Given the description of an element on the screen output the (x, y) to click on. 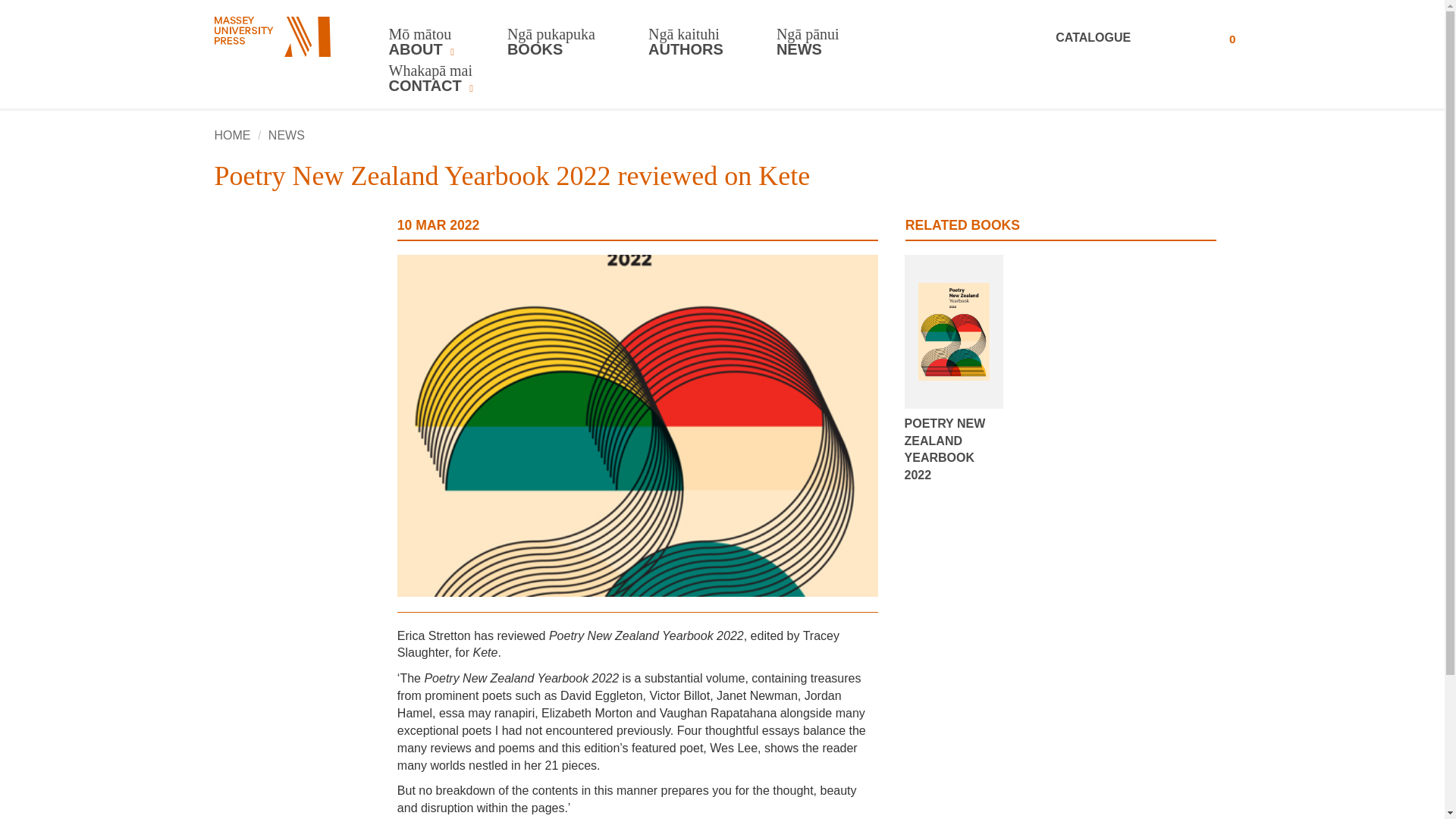
NEWS (285, 134)
HOME (232, 134)
0 (1215, 38)
CATALOGUE   (1113, 37)
